Given the description of an element on the screen output the (x, y) to click on. 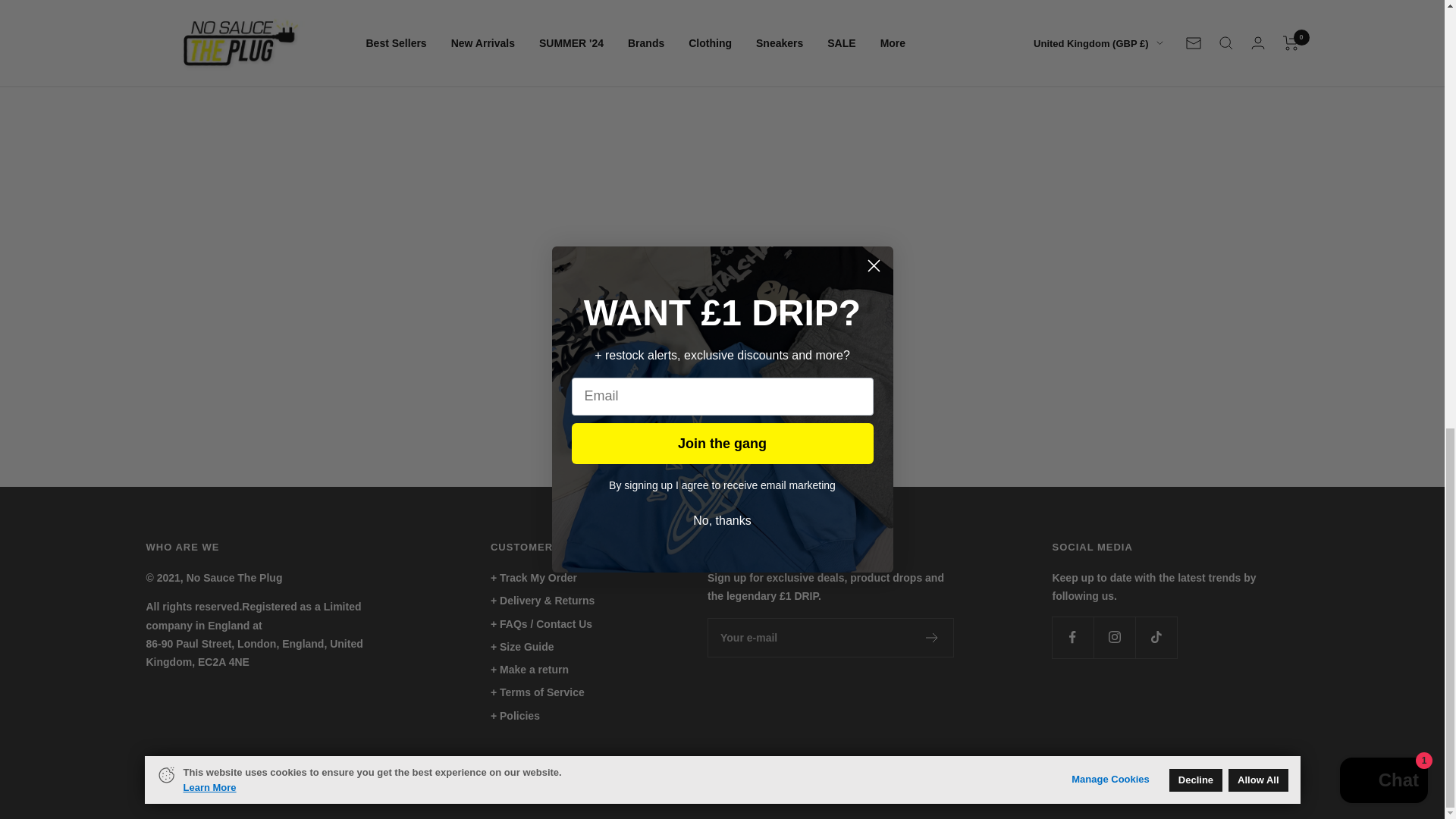
Register (932, 637)
